Given the description of an element on the screen output the (x, y) to click on. 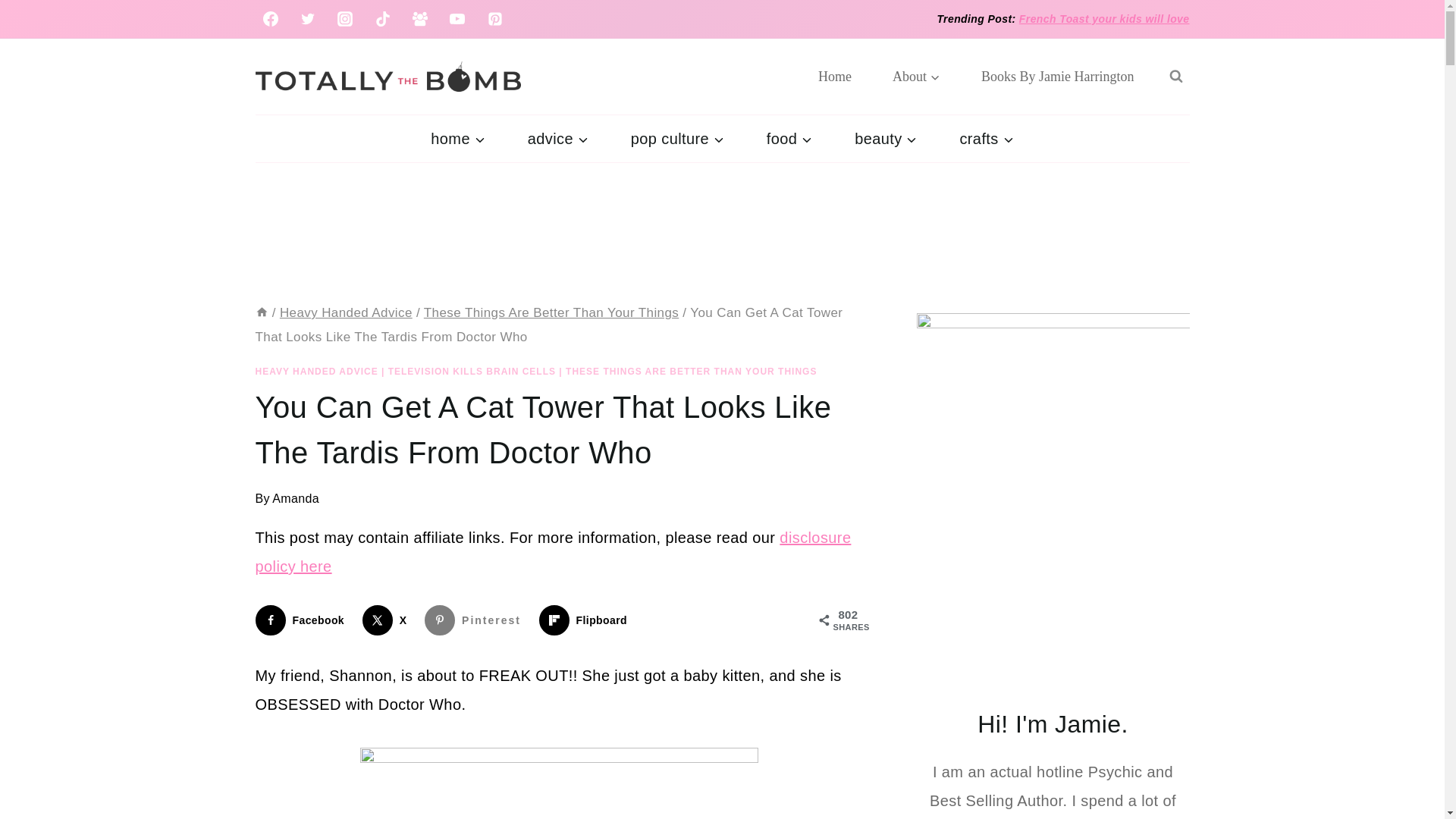
Home (260, 312)
Save to Pinterest (476, 620)
Share on Flipboard (585, 620)
home (457, 138)
pop culture (677, 138)
About (916, 76)
Home (834, 76)
Books By Jamie Harrington (1057, 76)
French Toast your kids will love (1104, 19)
advice (558, 138)
